Given the description of an element on the screen output the (x, y) to click on. 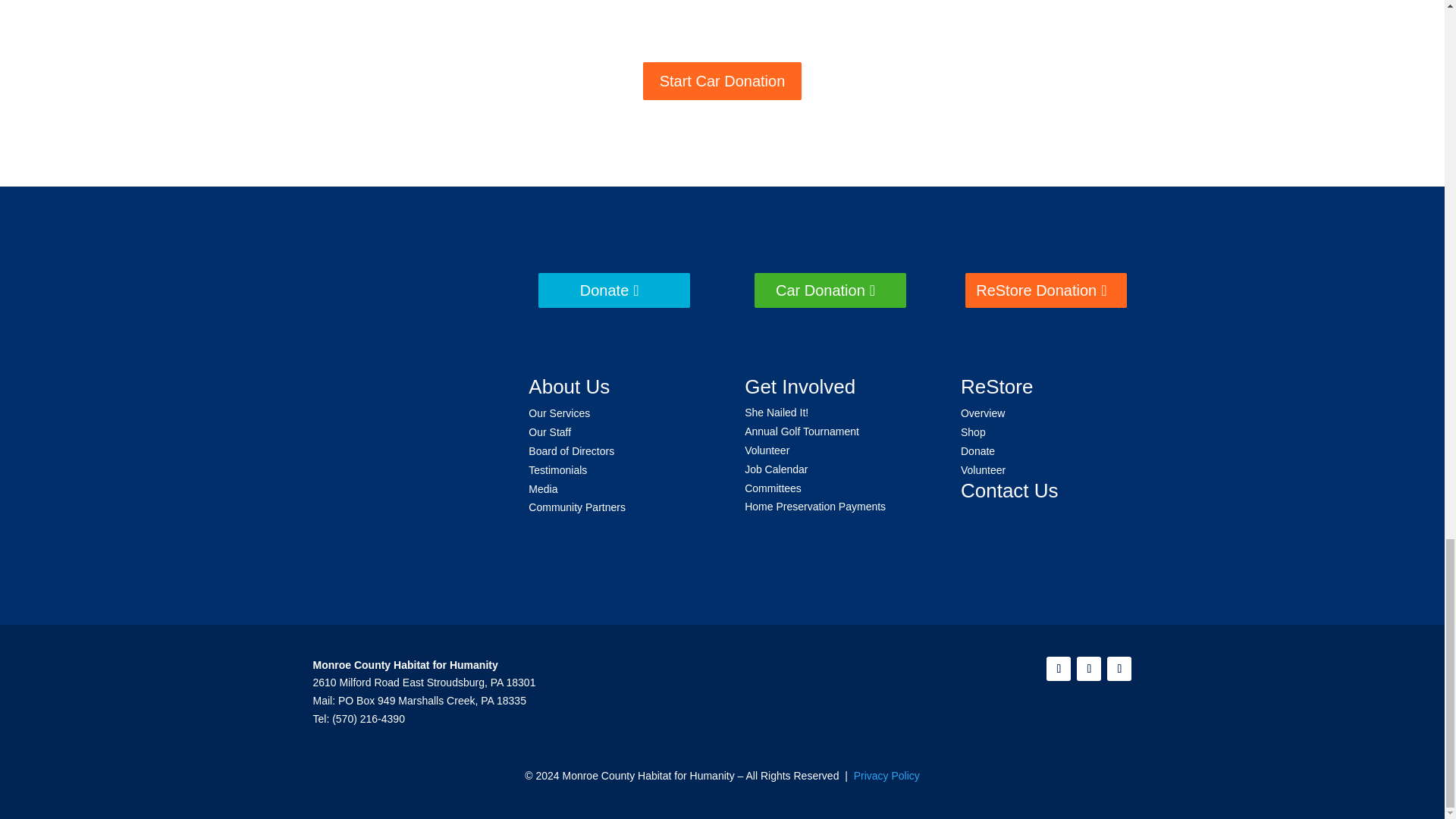
equal-housing-opportunity-logo-png-transparent (398, 501)
MCHFH White Logo (398, 301)
bronze-seal-MCHFH (398, 410)
Follow on Facebook (1058, 668)
Follow on Instagram (1088, 668)
Follow on Mail (1118, 668)
